Given the description of an element on the screen output the (x, y) to click on. 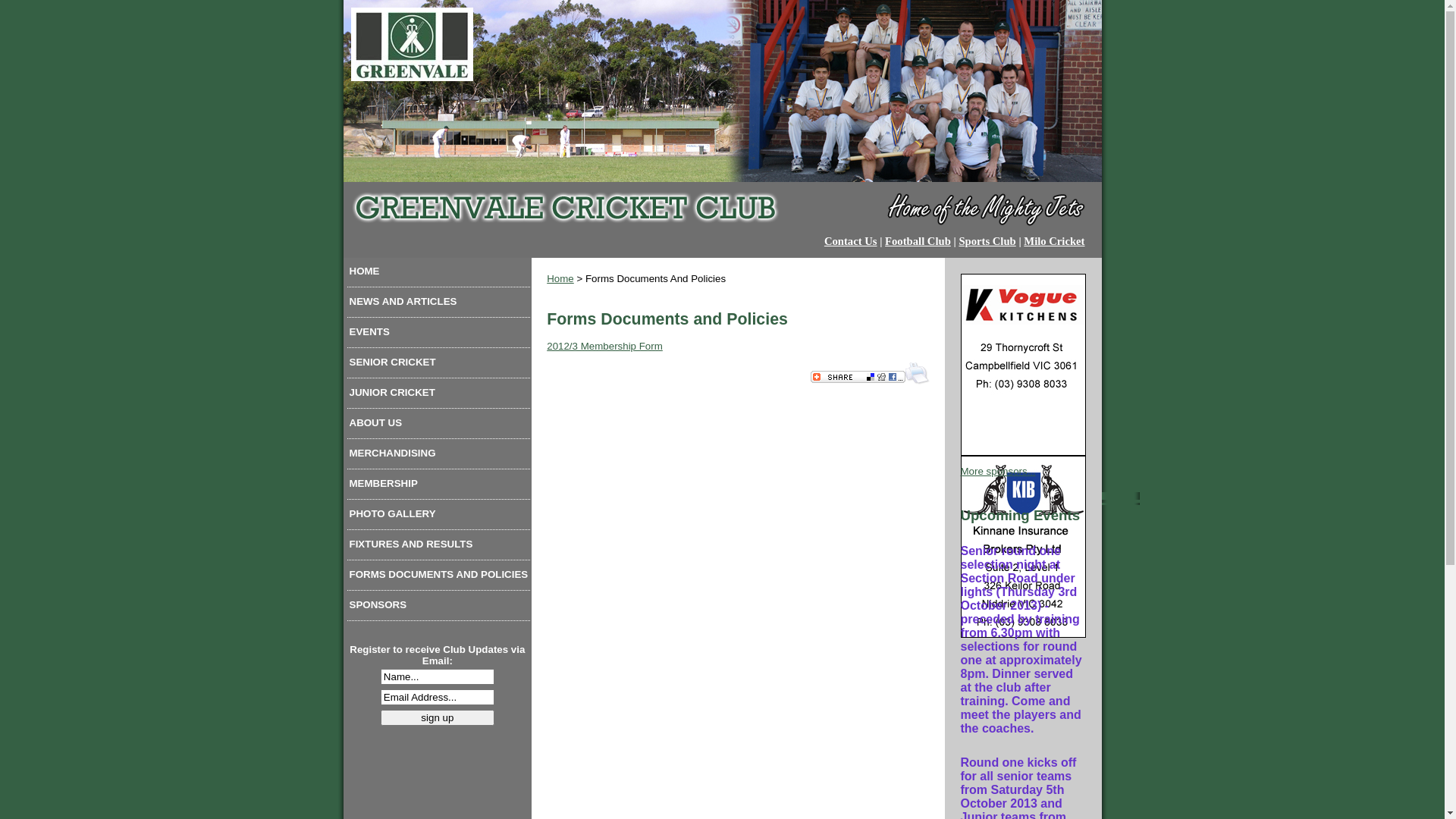
Football Club Element type: text (917, 241)
Milo Cricket Element type: text (1053, 241)
EVENTS Element type: text (438, 335)
MERCHANDISING Element type: text (438, 456)
FORMS DOCUMENTS AND POLICIES Element type: text (438, 577)
HOME Element type: text (438, 274)
Sports Club Element type: text (986, 241)
Print this Page Element type: hover (917, 382)
MEMBERSHIP Element type: text (438, 486)
PHOTO GALLERY Element type: text (438, 517)
ABOUT US Element type: text (438, 426)
FIXTURES AND RESULTS Element type: text (438, 547)
2012/3 Membership Form Element type: text (604, 345)
SENIOR CRICKET Element type: text (438, 365)
More sponsors... Element type: text (997, 470)
JUNIOR CRICKET Element type: text (438, 395)
NEWS AND ARTICLES Element type: text (438, 304)
sign up Element type: text (437, 717)
SPONSORS Element type: text (438, 608)
Home Element type: text (560, 278)
Contact Us Element type: text (850, 241)
